Given the description of an element on the screen output the (x, y) to click on. 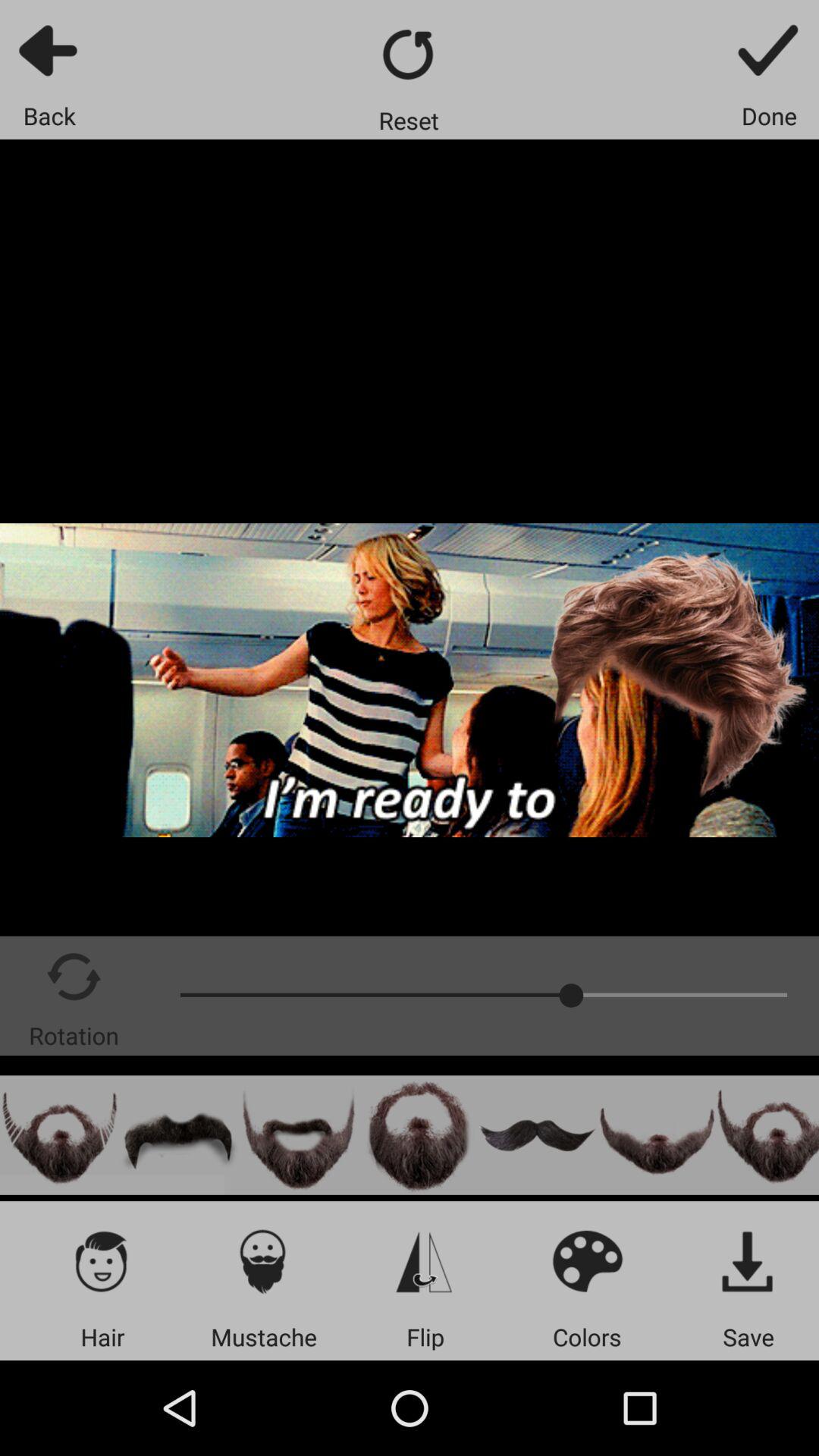
select full beard (298, 1134)
